Given the description of an element on the screen output the (x, y) to click on. 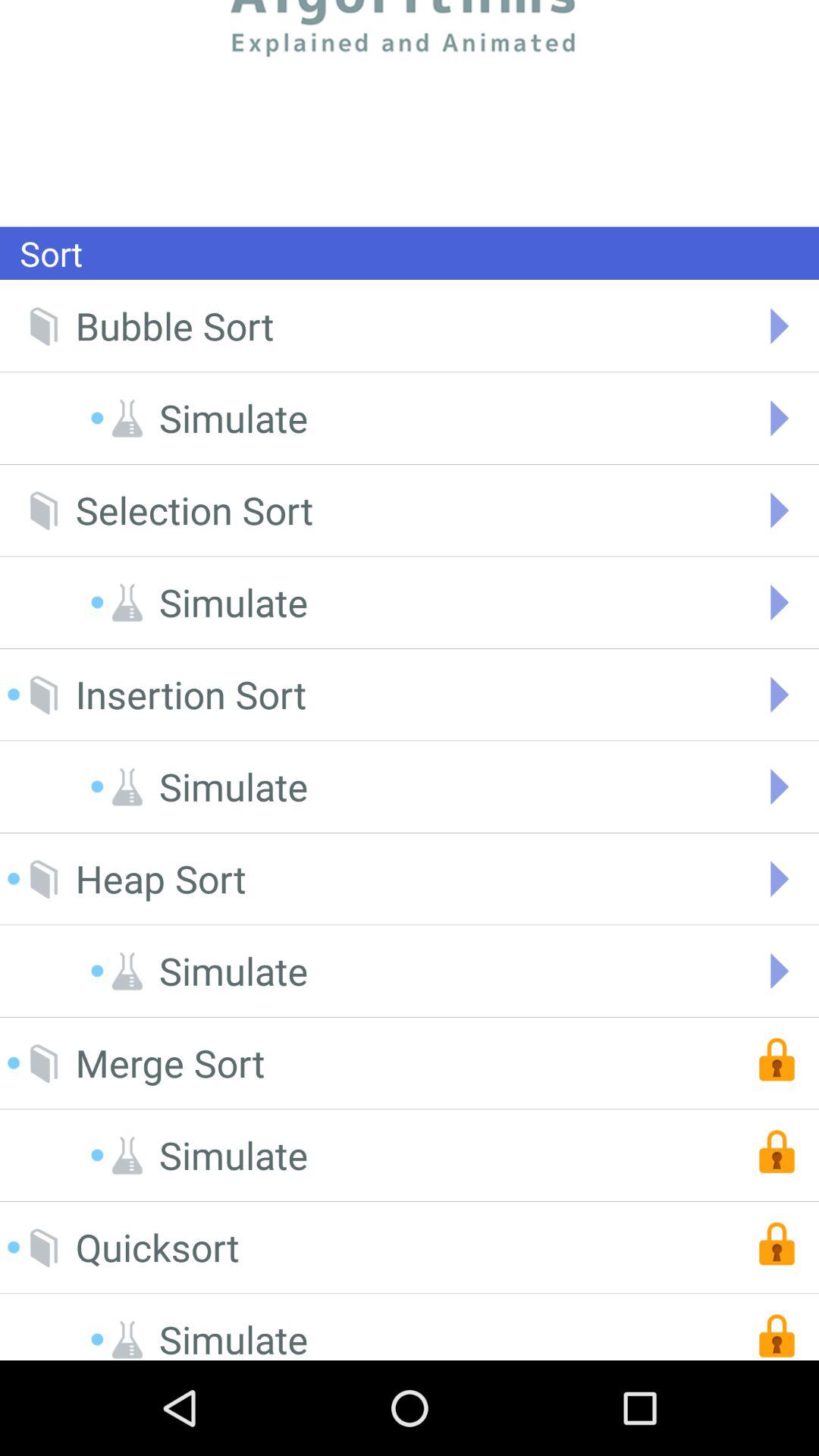
scroll to bubble sort (174, 325)
